Given the description of an element on the screen output the (x, y) to click on. 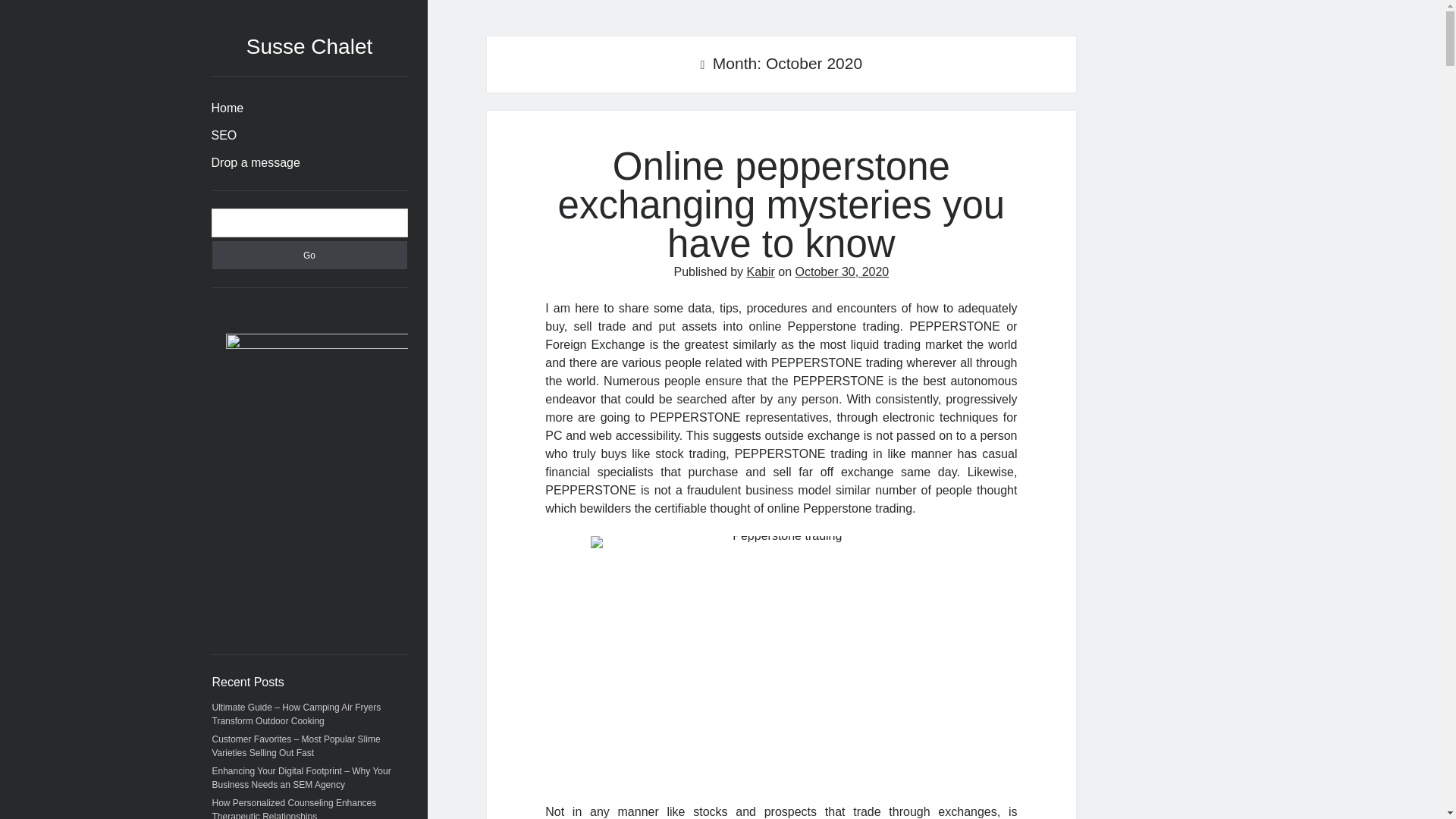
SEO (223, 135)
Go (309, 254)
Home (227, 108)
Drop a message (255, 162)
Susse Chalet (309, 46)
Go (309, 254)
Go (309, 254)
Search for: (309, 222)
